Given the description of an element on the screen output the (x, y) to click on. 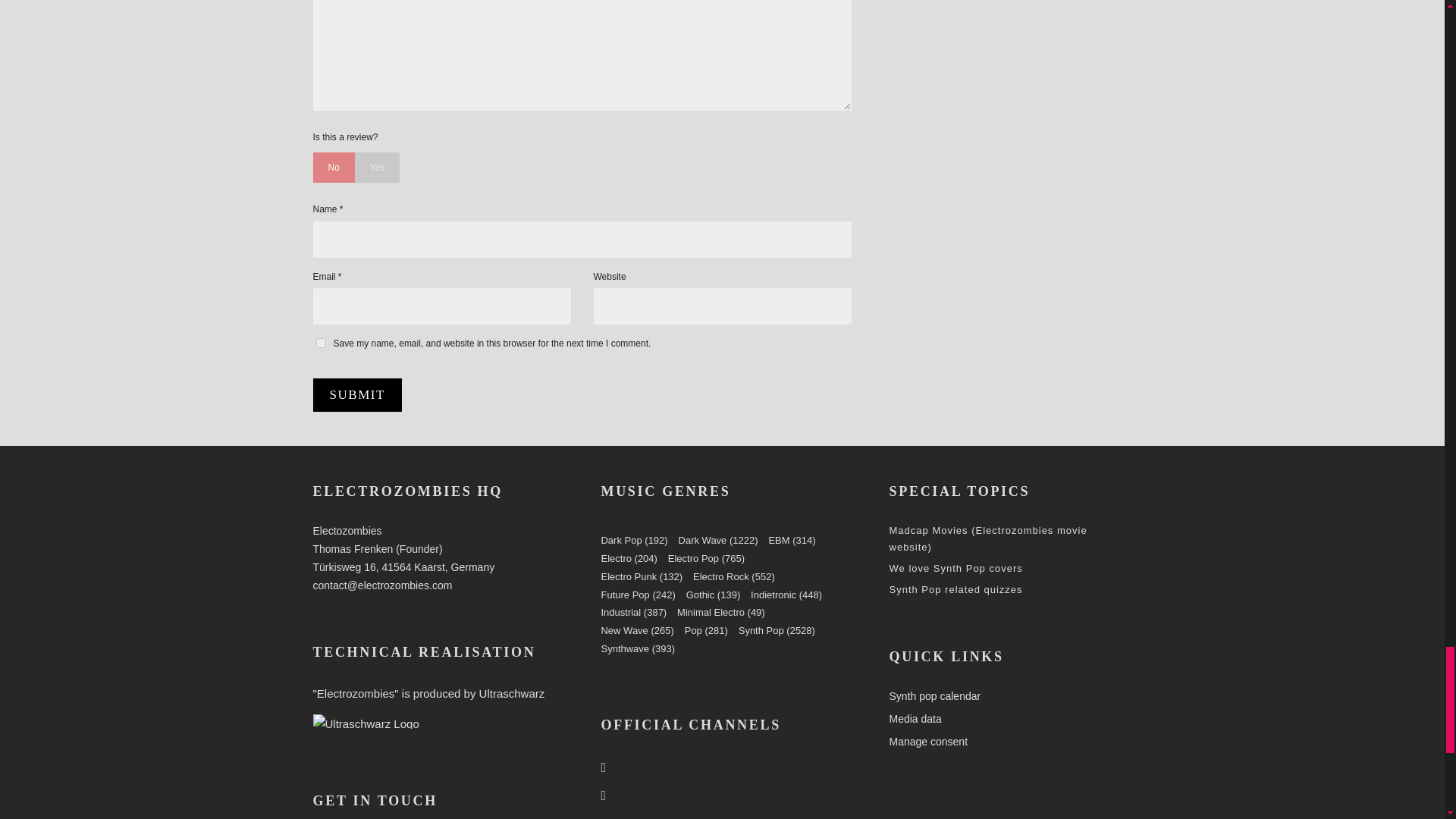
Submit (357, 394)
yes (319, 343)
